Given the description of an element on the screen output the (x, y) to click on. 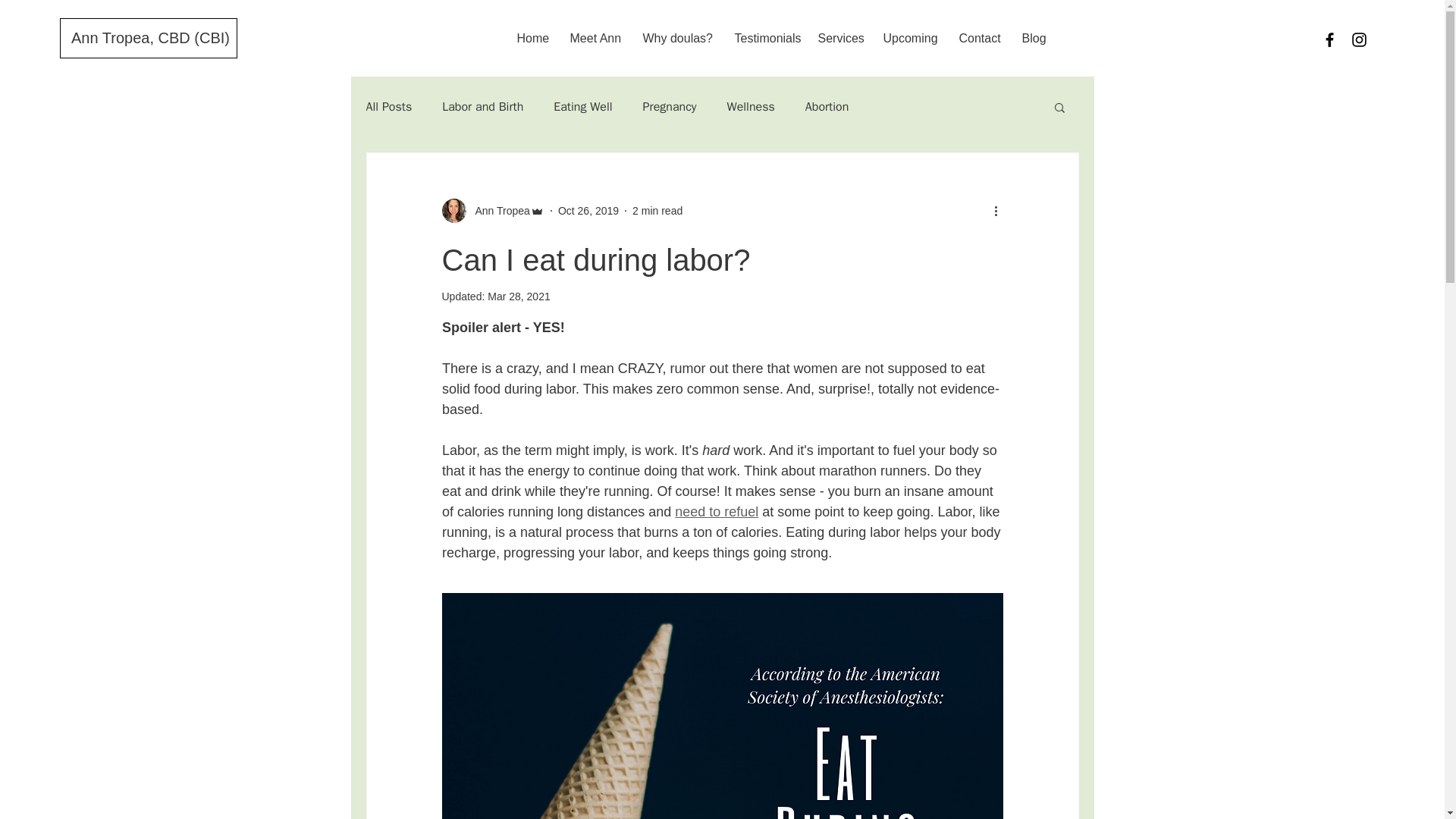
need to refuel (716, 511)
Meet Ann (593, 38)
Why doulas? (676, 38)
Mar 28, 2021 (518, 296)
Home (531, 38)
Contact (978, 38)
Testimonials (764, 38)
Services (839, 38)
All Posts (388, 106)
Upcoming (909, 38)
